Given the description of an element on the screen output the (x, y) to click on. 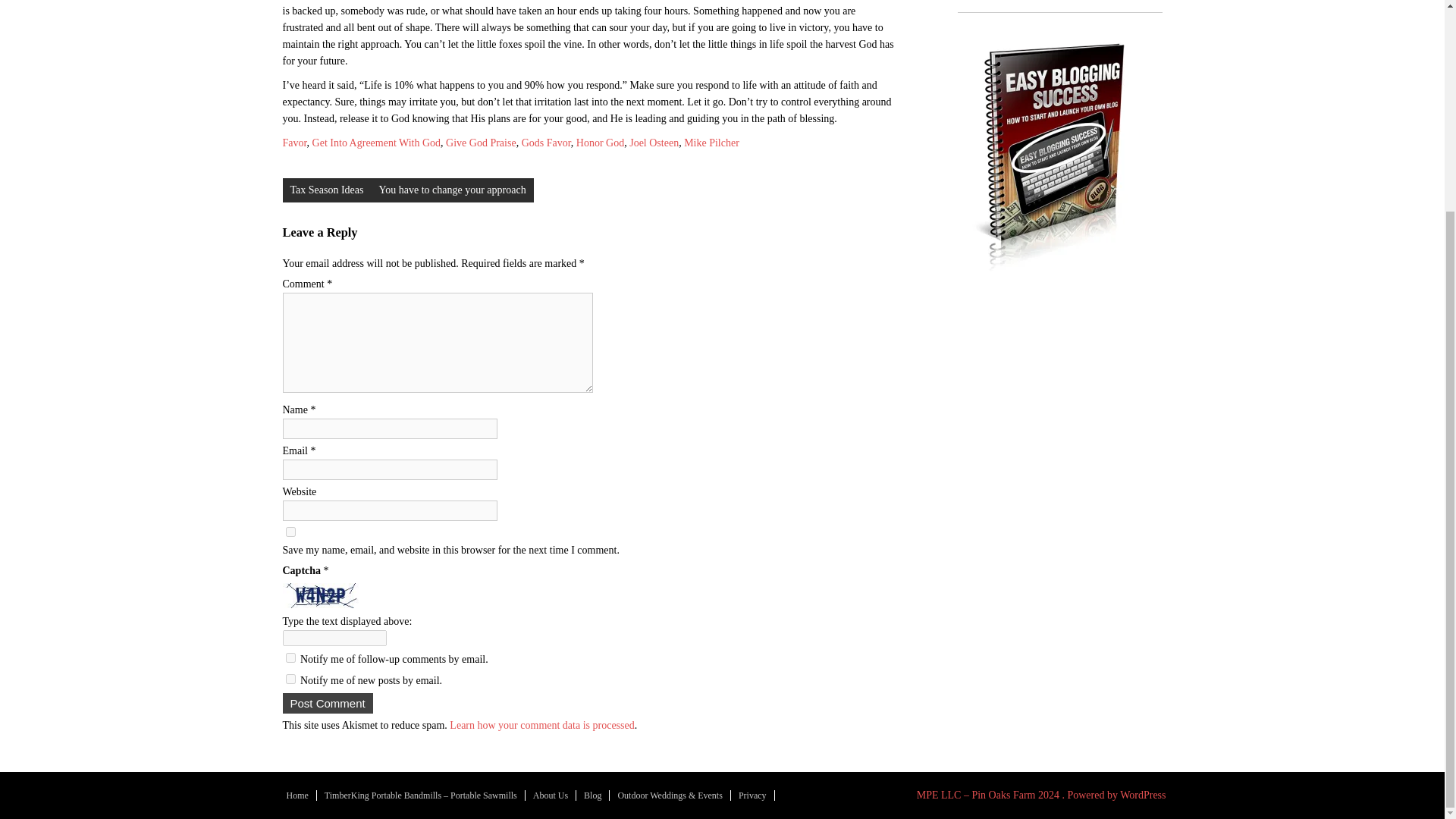
Joel Osteen (653, 142)
Favor (293, 142)
Post Comment (327, 702)
Blog (593, 795)
subscribe (290, 678)
Honor God (600, 142)
Tax Season Ideas (326, 190)
yes (290, 532)
Post Comment (327, 702)
Home (298, 795)
